Given the description of an element on the screen output the (x, y) to click on. 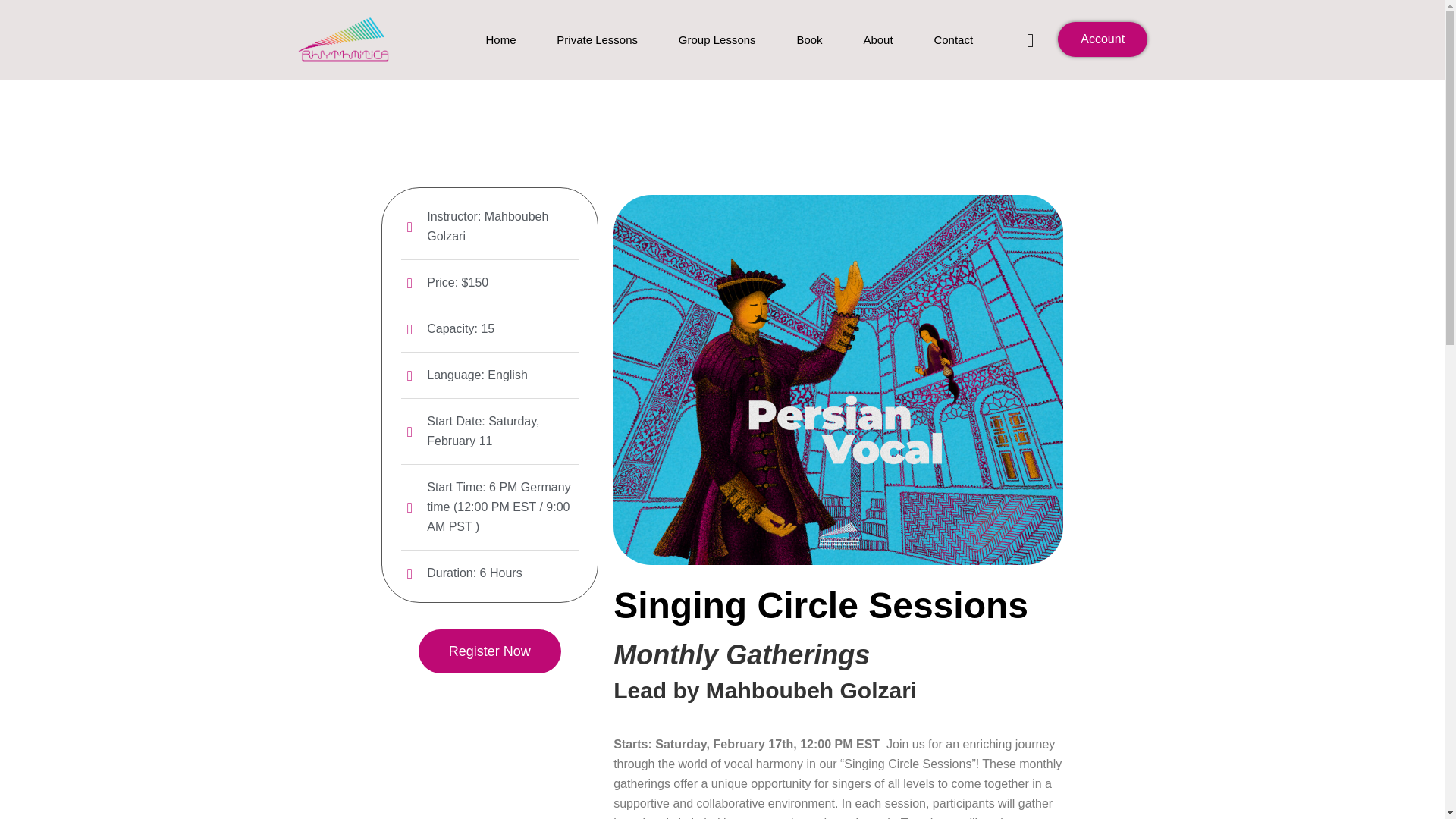
About (877, 39)
Private Lessons (596, 39)
Register Now (489, 651)
Group Lessons (716, 39)
Contact (952, 39)
Book (808, 39)
Home (500, 39)
Account (1102, 38)
